Given the description of an element on the screen output the (x, y) to click on. 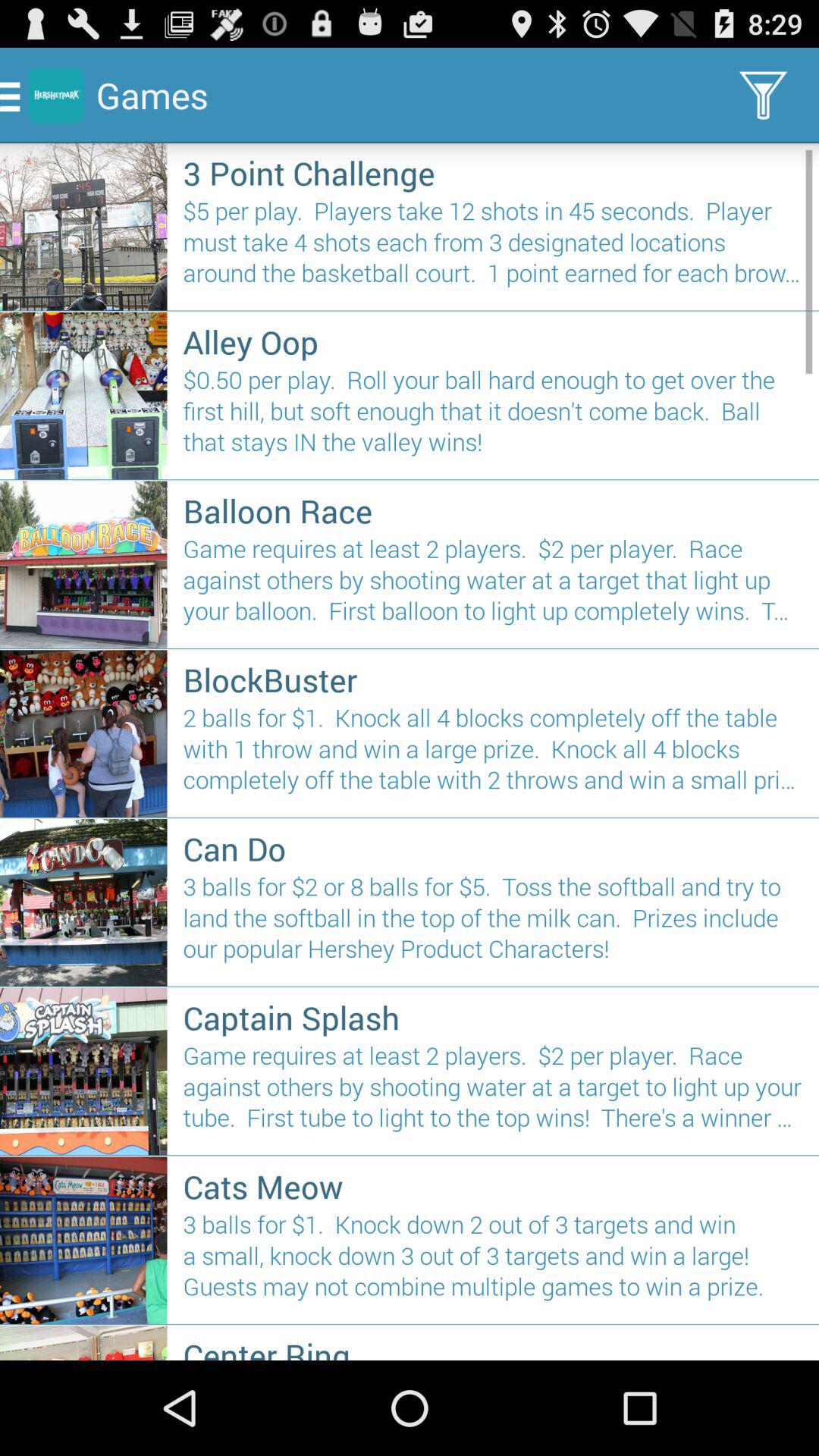
turn off item above the game requires at item (493, 1017)
